Given the description of an element on the screen output the (x, y) to click on. 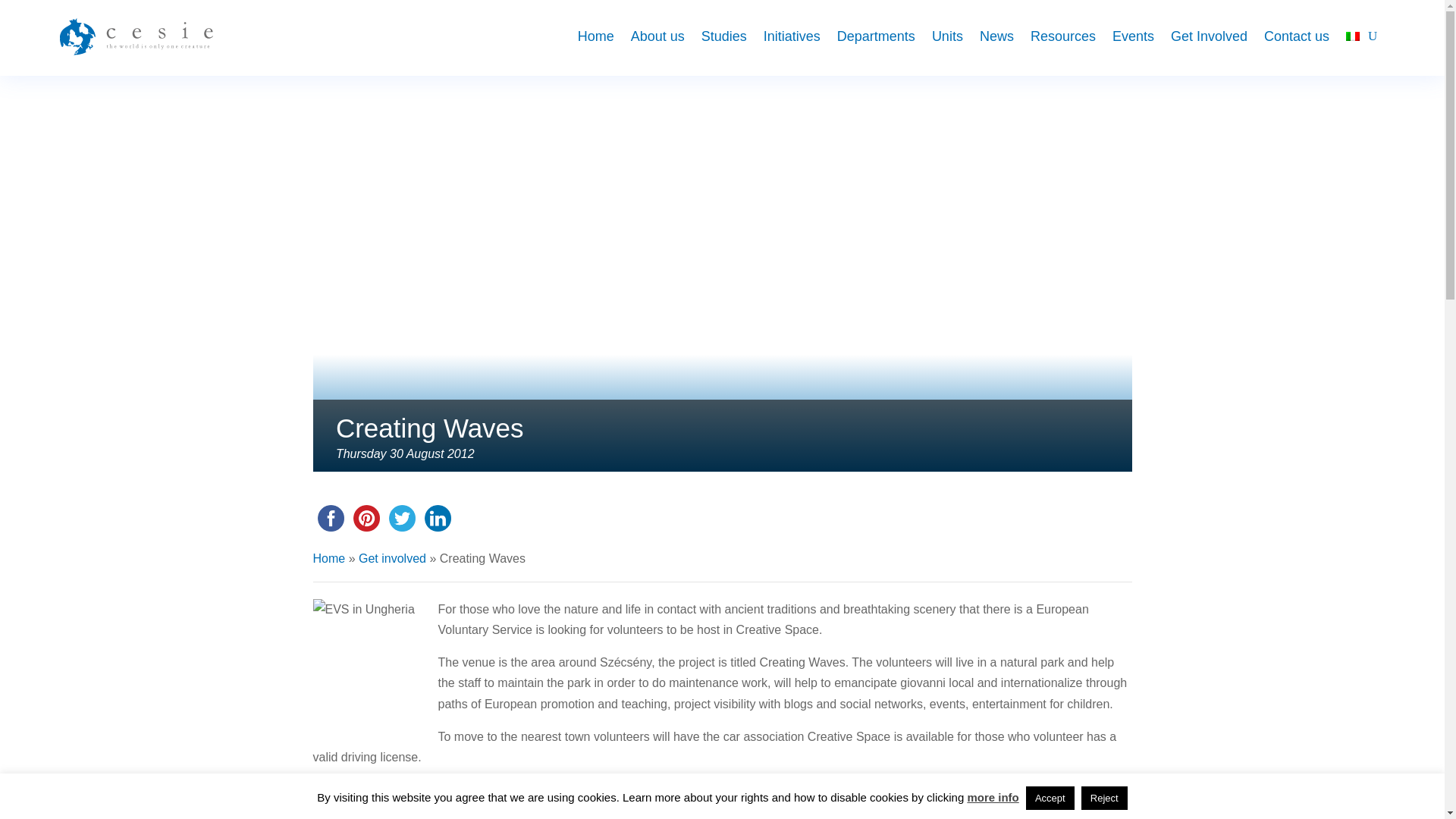
Departments (876, 36)
Get Involved (1208, 36)
linkedin (437, 518)
pinterest (366, 518)
facebook (330, 518)
Initiatives (791, 36)
twitter (401, 518)
Resources (1063, 36)
About us (657, 36)
